Given the description of an element on the screen output the (x, y) to click on. 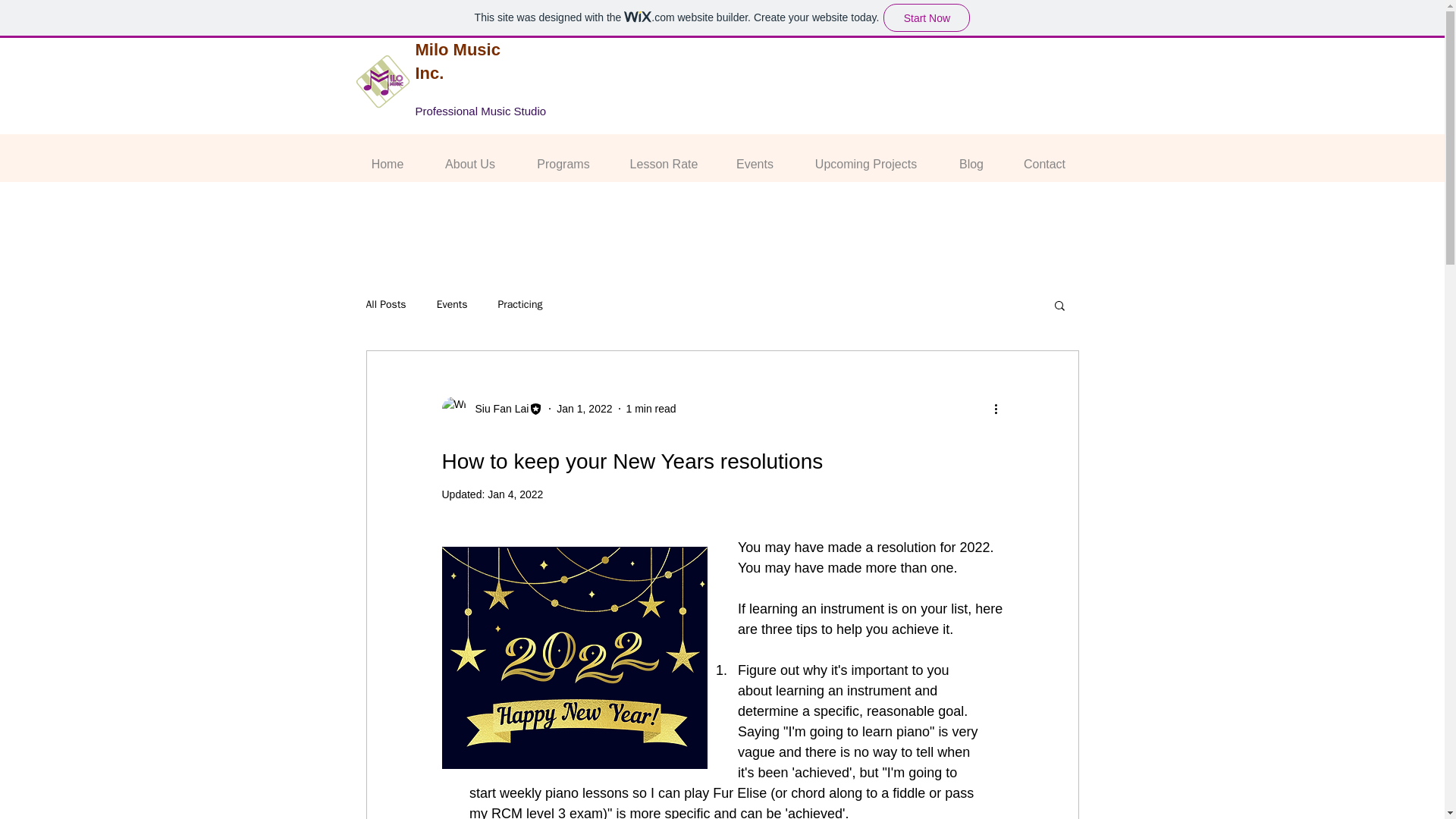
Jan 1, 2022 (583, 408)
1 min read (651, 408)
Programs (562, 157)
Blog (971, 157)
About Us (470, 157)
Siu Fan Lai (492, 408)
Siu Fan Lai (496, 408)
Practicing (519, 305)
All Posts (385, 305)
Upcoming Projects (866, 157)
